Given the description of an element on the screen output the (x, y) to click on. 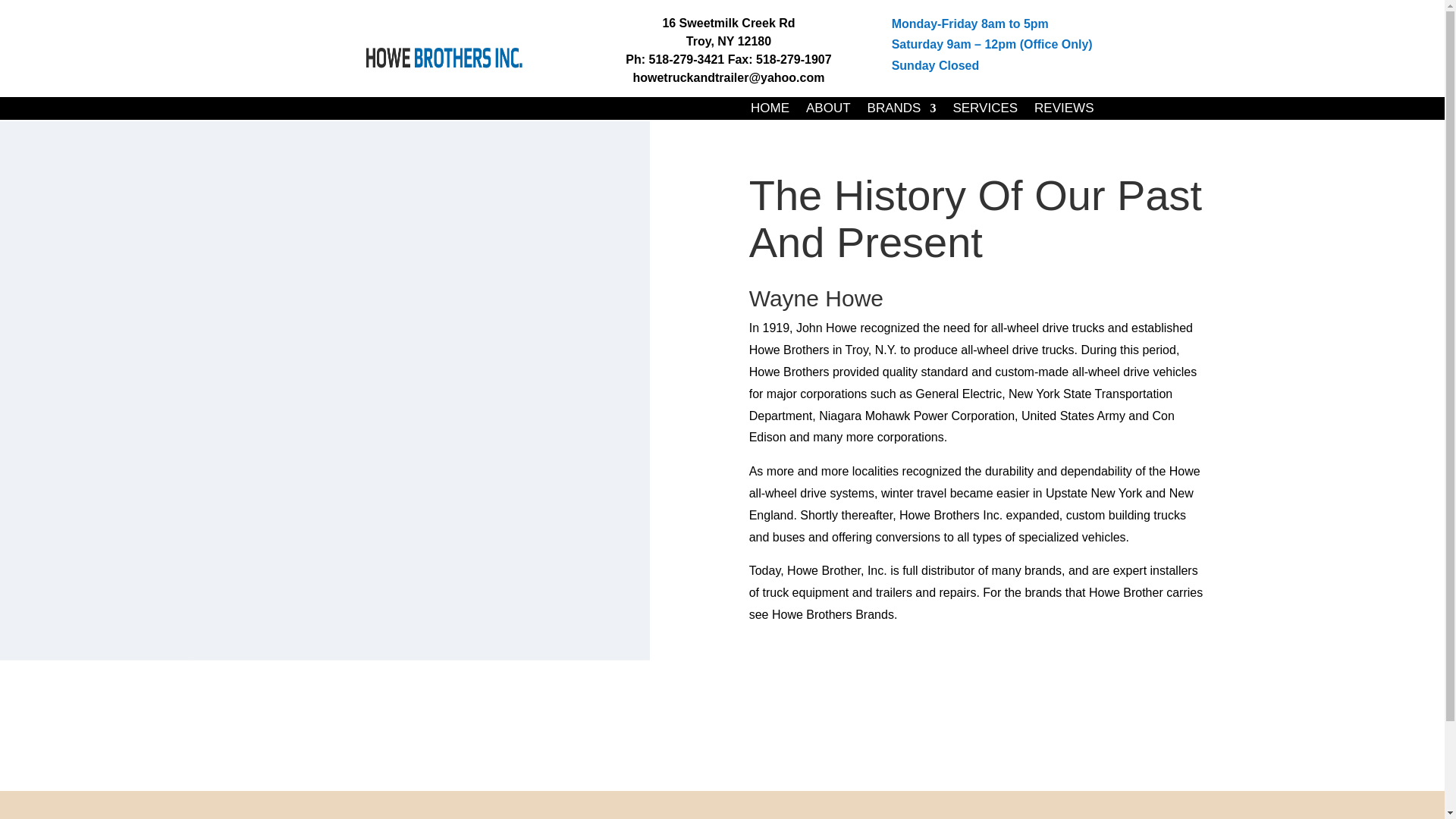
REVIEWS (1063, 111)
BRANDS (901, 111)
Howe Brother (443, 56)
ABOUT (828, 111)
SERVICES (984, 111)
HOME (770, 111)
